Given the description of an element on the screen output the (x, y) to click on. 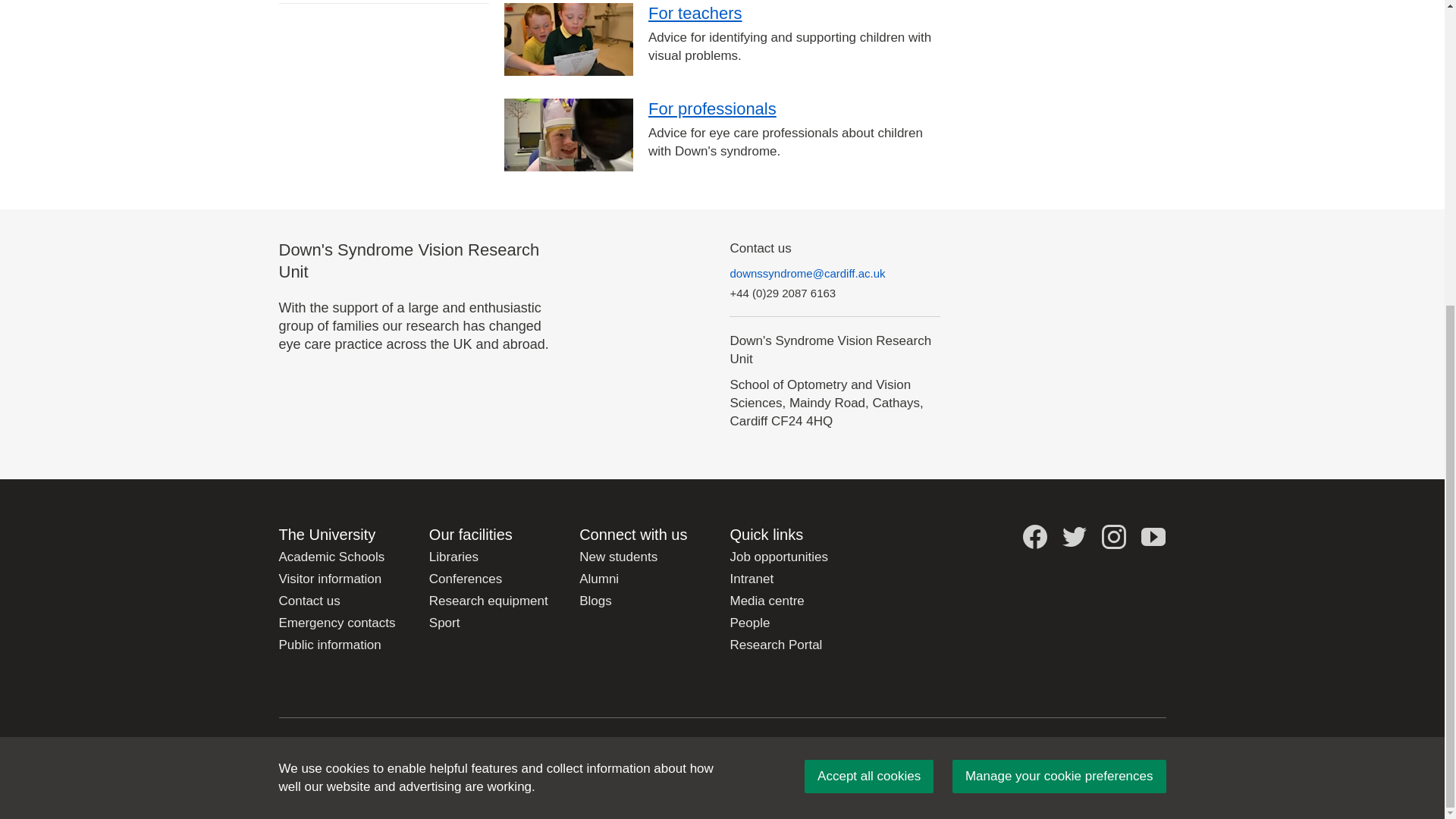
Youtube (1153, 536)
facebook (1034, 536)
Manage your cookie preferences (1059, 295)
instagram (1113, 536)
twitter no background icon (1074, 536)
Accept all cookies (869, 295)
